Given the description of an element on the screen output the (x, y) to click on. 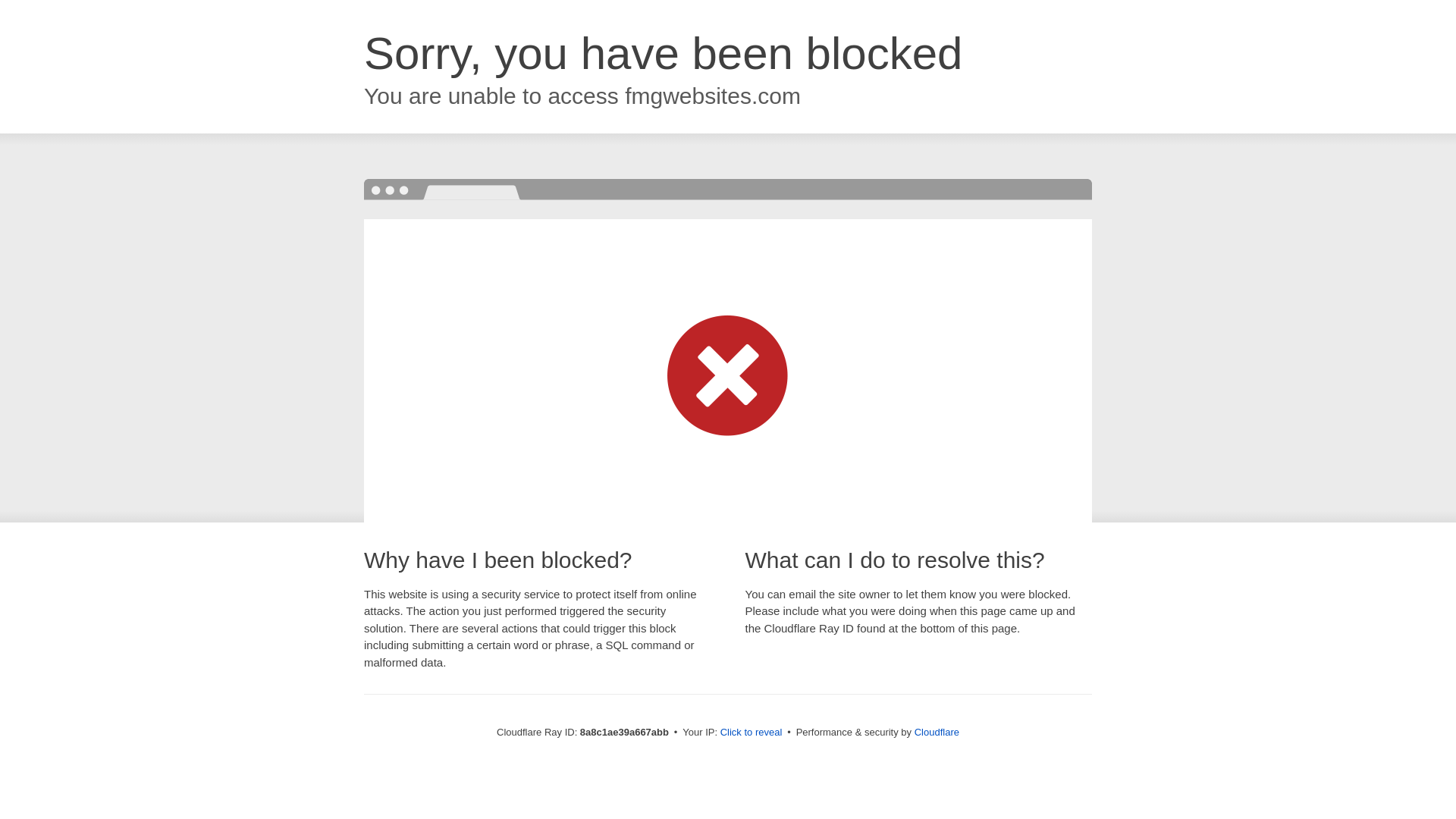
Click to reveal (751, 732)
Cloudflare (936, 731)
